Given the description of an element on the screen output the (x, y) to click on. 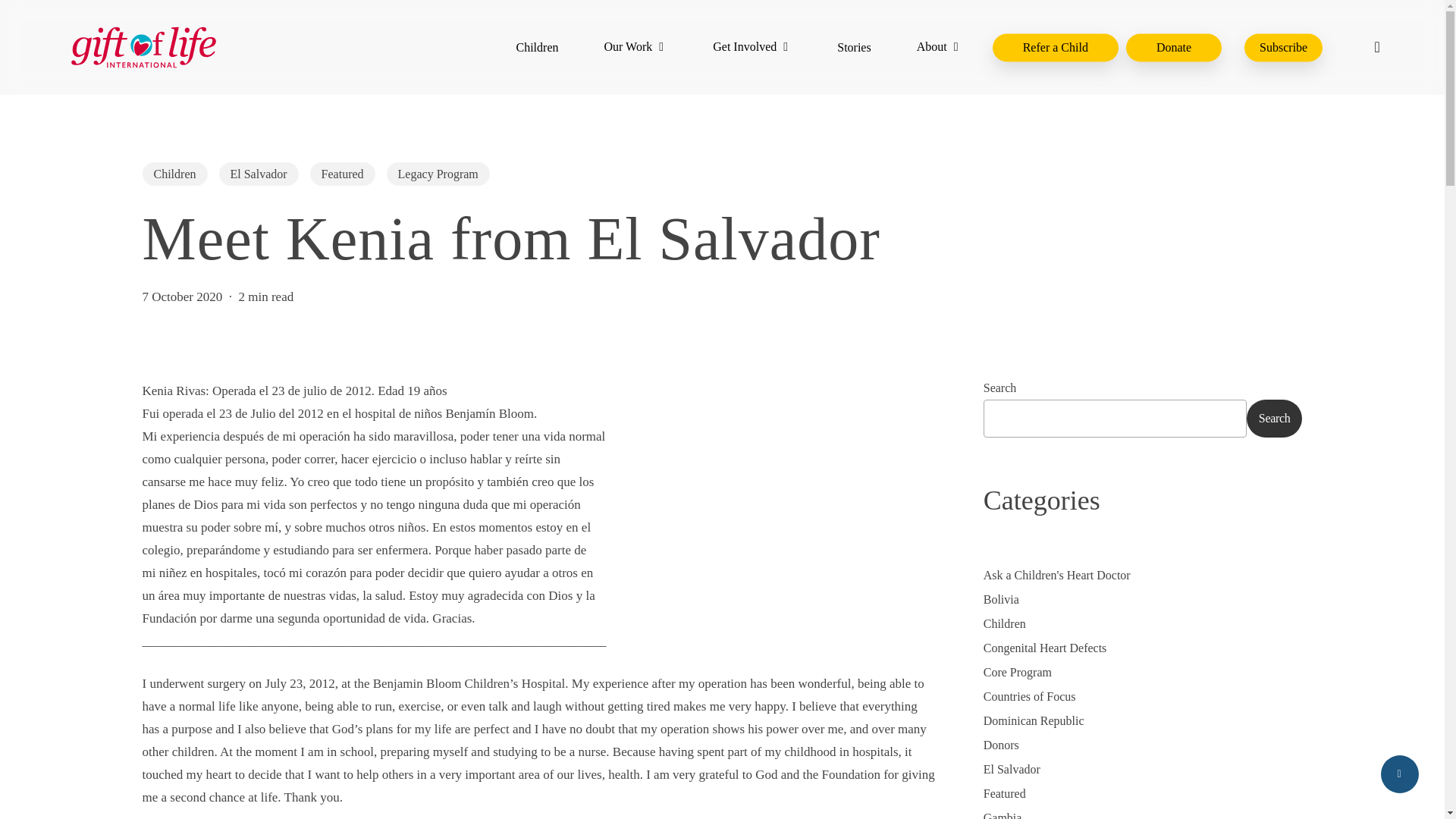
Search (1274, 418)
Donors (1143, 745)
Stories (853, 47)
Featured (342, 173)
Donate (1173, 47)
Children (175, 173)
About (939, 47)
El Salvador (1143, 769)
Our Work (635, 47)
Get Involved (752, 47)
Subscribe (1283, 47)
Core Program (1143, 672)
Congenital Heart Defects (1143, 648)
El Salvador (258, 173)
Children (536, 47)
